Given the description of an element on the screen output the (x, y) to click on. 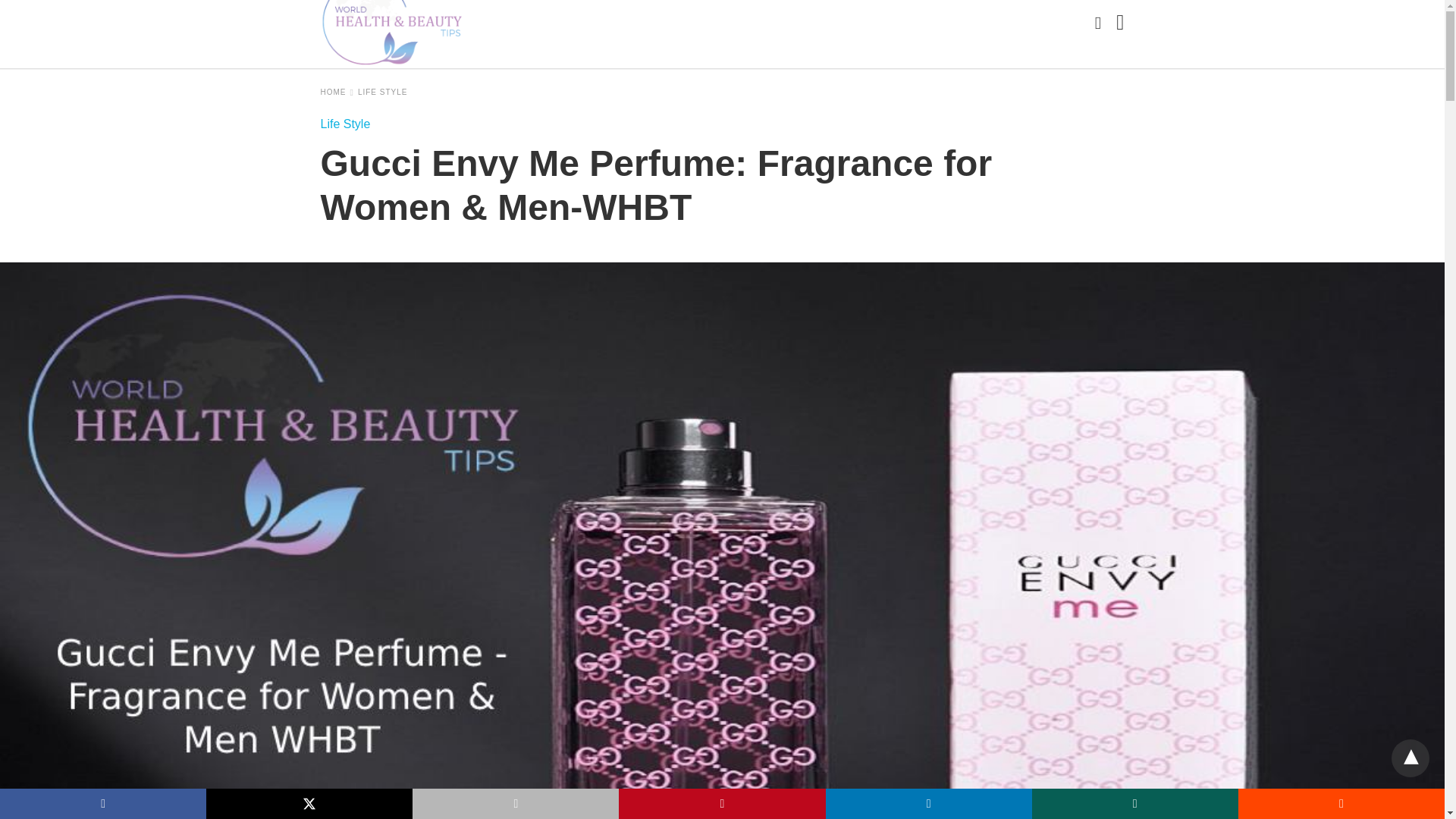
HOME (336, 91)
Life Style (344, 123)
Life Style (382, 91)
Home (336, 91)
World Health and Beauty Tips (392, 33)
Life Style (344, 123)
LIFE STYLE (382, 91)
